Given the description of an element on the screen output the (x, y) to click on. 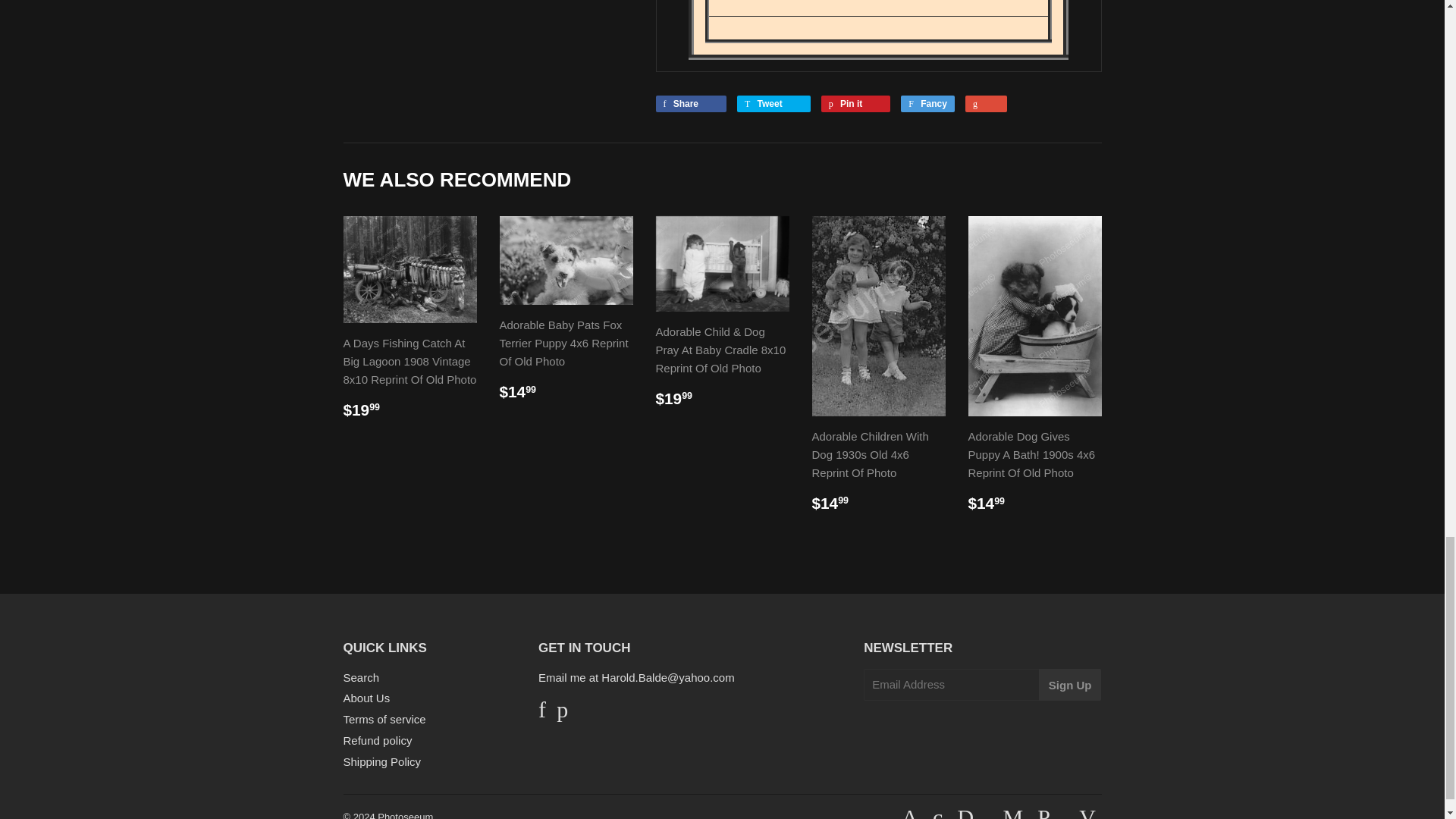
Terms of service (383, 718)
Photoseeum on Facebook (542, 712)
Photoseeum on Pinterest (561, 712)
Pin it (855, 103)
Shipping Policy (381, 761)
Fancy (928, 103)
Facebook (542, 712)
Pinterest (561, 712)
Sign Up (1070, 685)
About Us (366, 697)
Refund policy (377, 739)
Share (690, 103)
Tweet (773, 103)
Sign Up (1070, 685)
Search (360, 676)
